Given the description of an element on the screen output the (x, y) to click on. 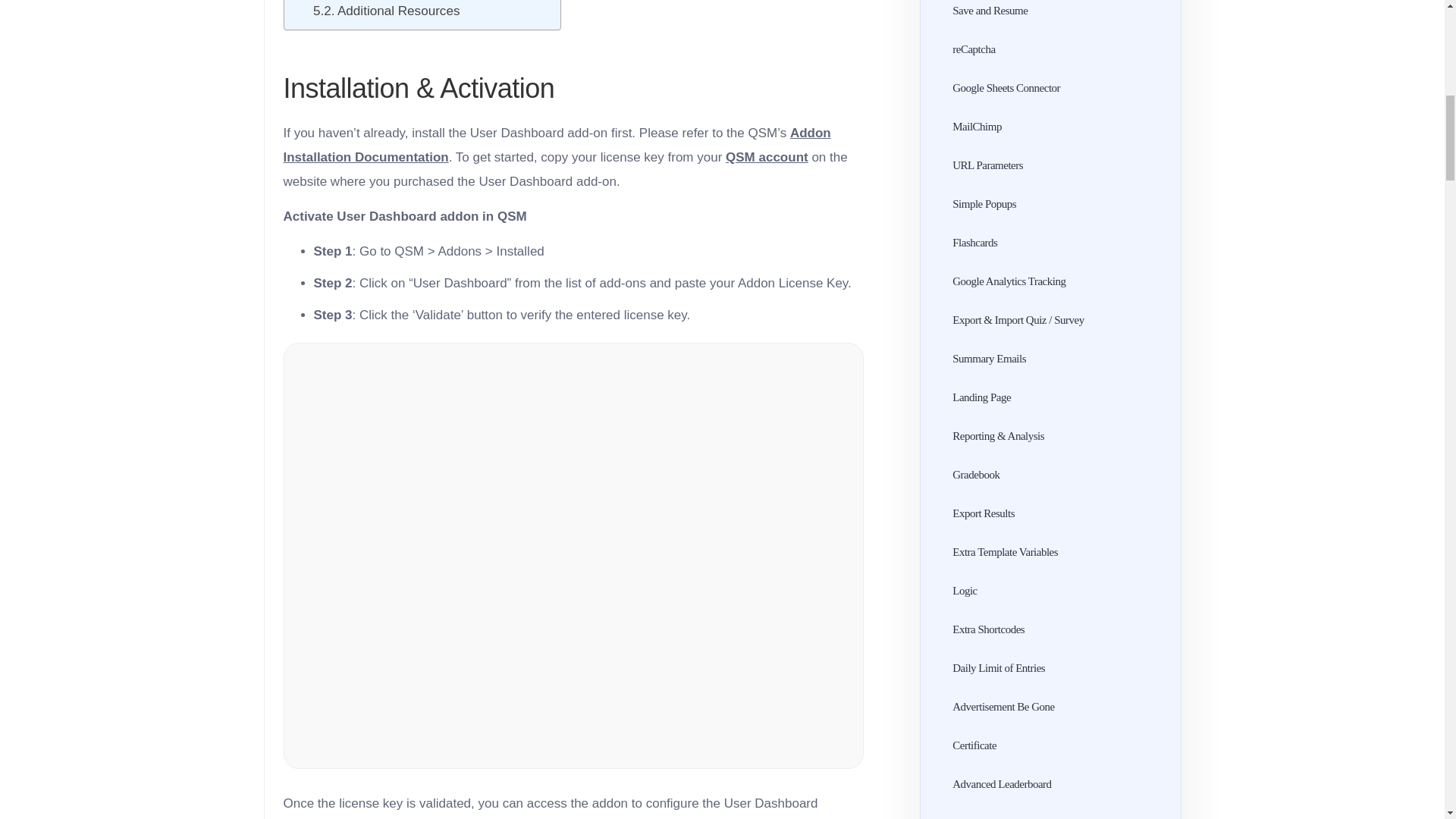
Additional Resources (386, 10)
